Given the description of an element on the screen output the (x, y) to click on. 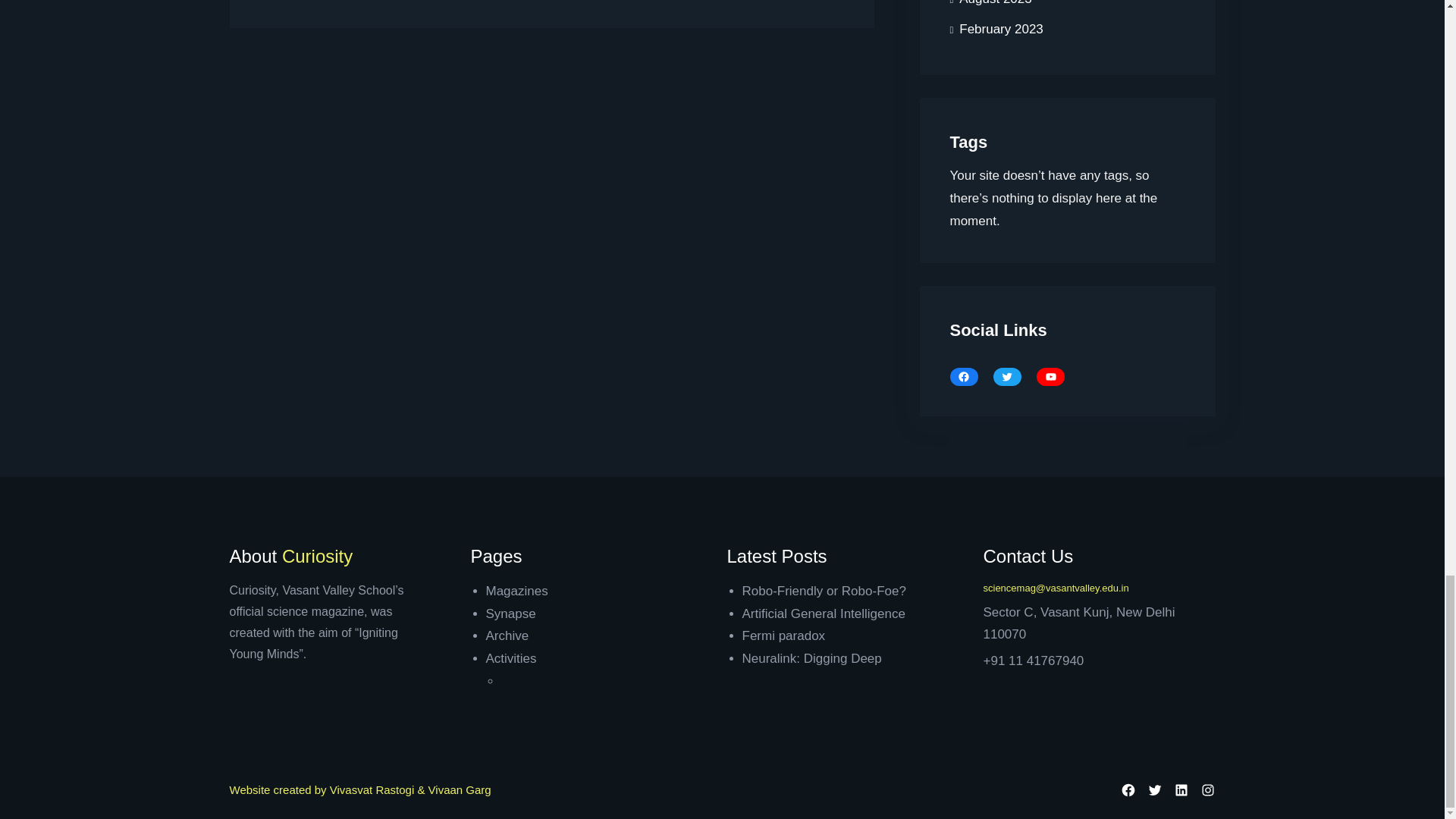
August 2023 (989, 7)
February 2023 (995, 29)
YouTube (1050, 376)
Twitter (1007, 376)
Magazines (515, 590)
Archive (506, 635)
Synapse (509, 613)
Curiosity (317, 558)
Facebook (962, 376)
